Given the description of an element on the screen output the (x, y) to click on. 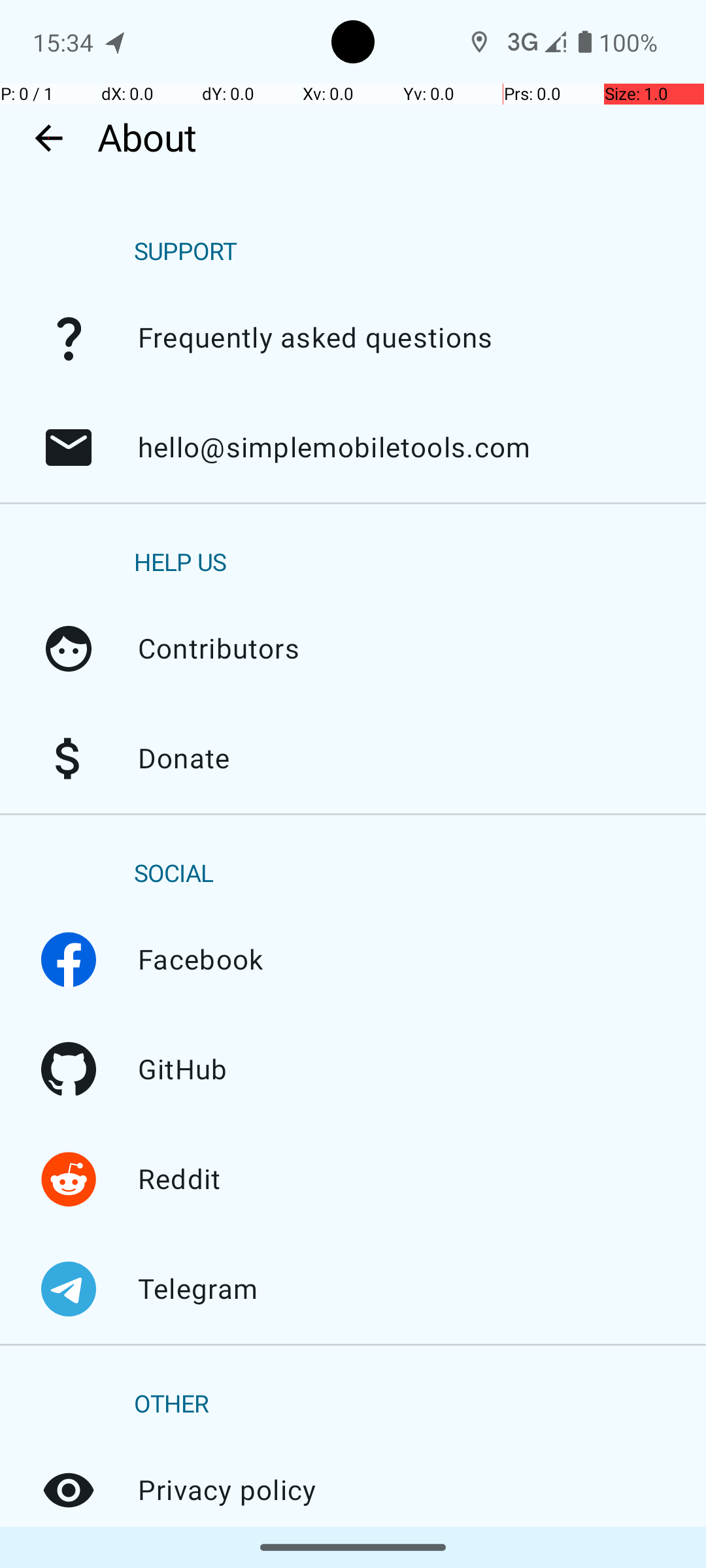
SUPPORT Element type: android.widget.TextView (185, 251)
HELP US Element type: android.widget.TextView (180, 562)
SOCIAL Element type: android.widget.TextView (173, 873)
OTHER Element type: android.widget.TextView (171, 1404)
Frequently asked questions Element type: android.view.View (68, 337)
hello@simplemobiletools.com Element type: android.view.View (68, 447)
Donate Element type: android.view.View (68, 758)
GitHub Element type: android.view.View (68, 1069)
Reddit Element type: android.view.View (68, 1178)
Telegram Element type: android.view.View (68, 1288)
